Given the description of an element on the screen output the (x, y) to click on. 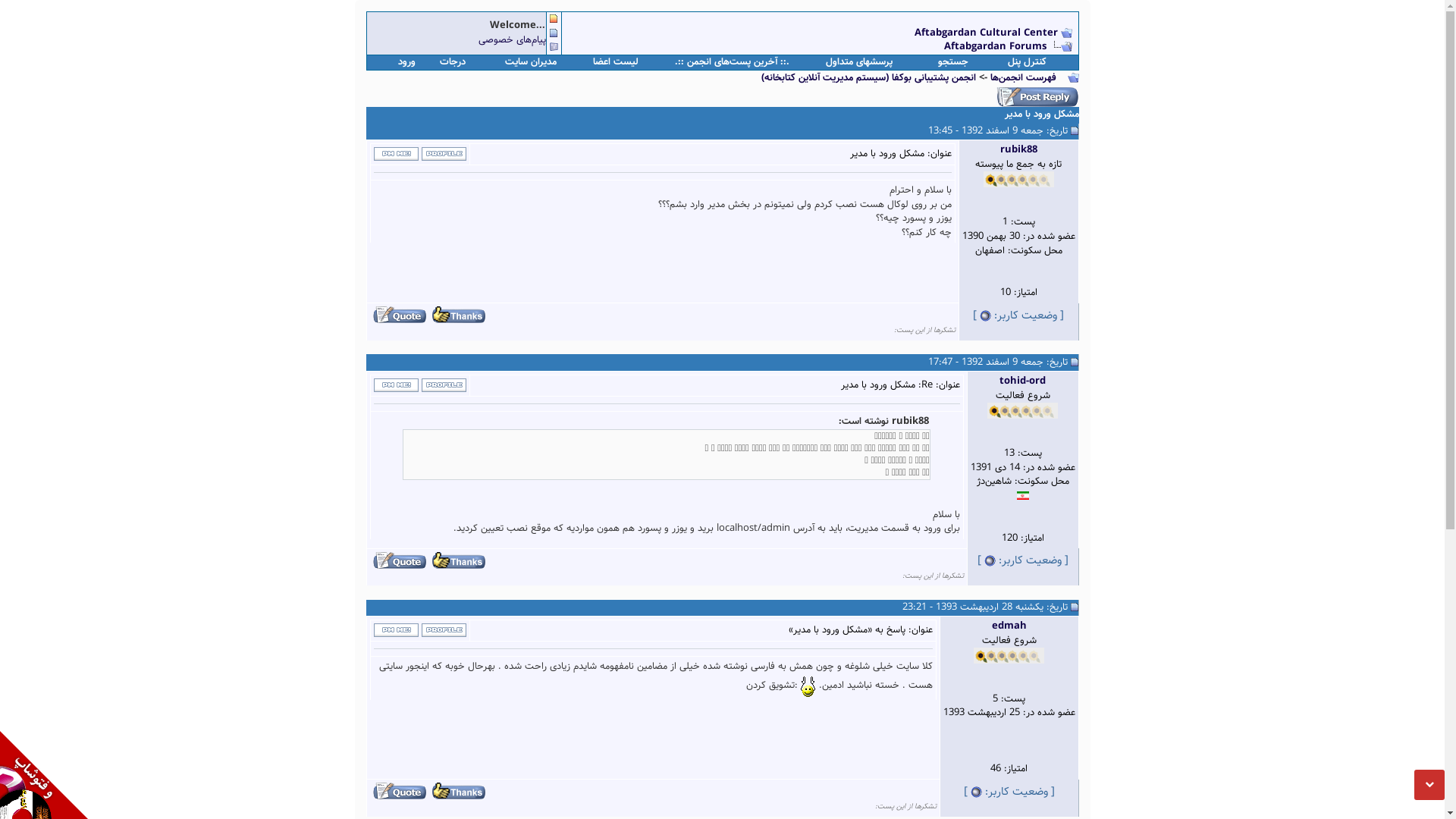
tohid-ord Element type: text (1022, 381)
  Element type: text (455, 315)
Aftabgardan Forums Element type: text (995, 46)
  Element type: text (455, 559)
Aftabgardan Cultural Center Element type: text (987, 32)
  Element type: text (455, 791)
edmah Element type: text (1008, 625)
rubik88 Element type: text (1017, 149)
